Given the description of an element on the screen output the (x, y) to click on. 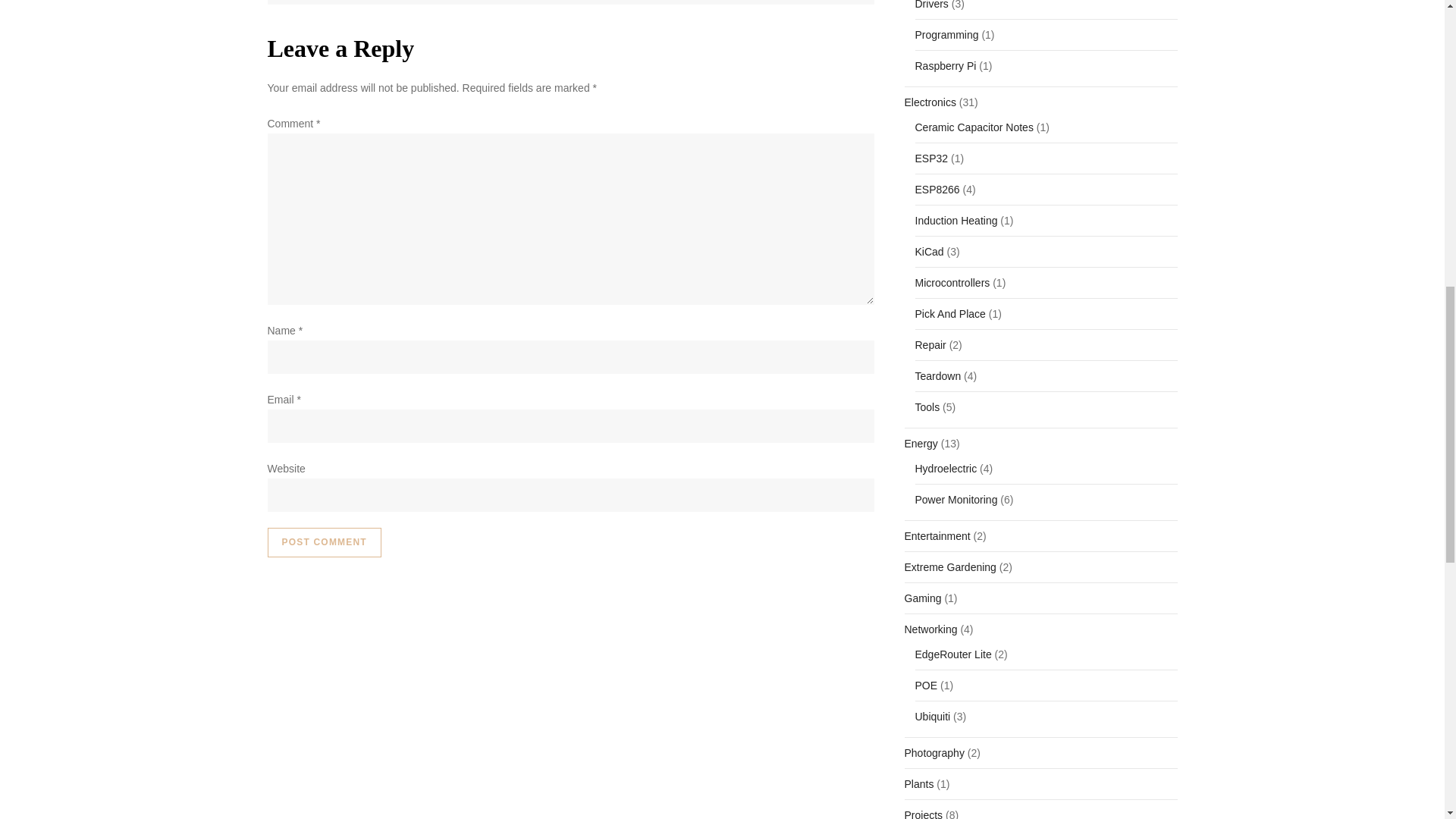
Hydroelectric (945, 468)
Post Comment (323, 542)
Tools (926, 406)
Induction Heating (955, 220)
Ceramic Capacitor Notes (973, 127)
Raspberry Pi (944, 66)
Microcontrollers (952, 282)
Extreme Gardening (949, 567)
Pick And Place (949, 313)
Electronics (929, 102)
